Given the description of an element on the screen output the (x, y) to click on. 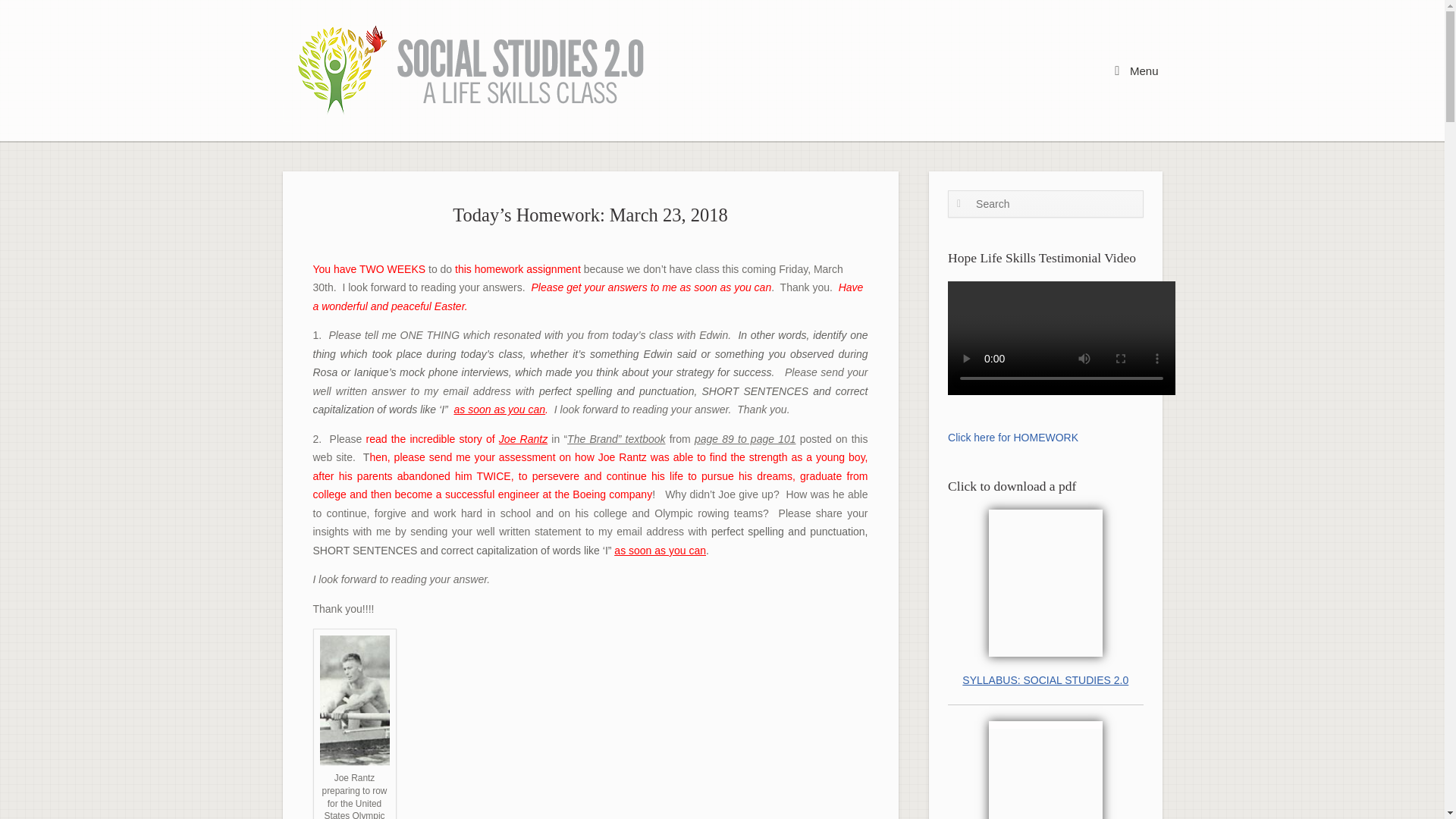
Search (34, 15)
Menu (1136, 69)
SYLLABUS: SOCIAL STUDIES 2.0 (1044, 680)
Click here for HOMEWORK (1012, 437)
Hope Life Skills (473, 70)
